Given the description of an element on the screen output the (x, y) to click on. 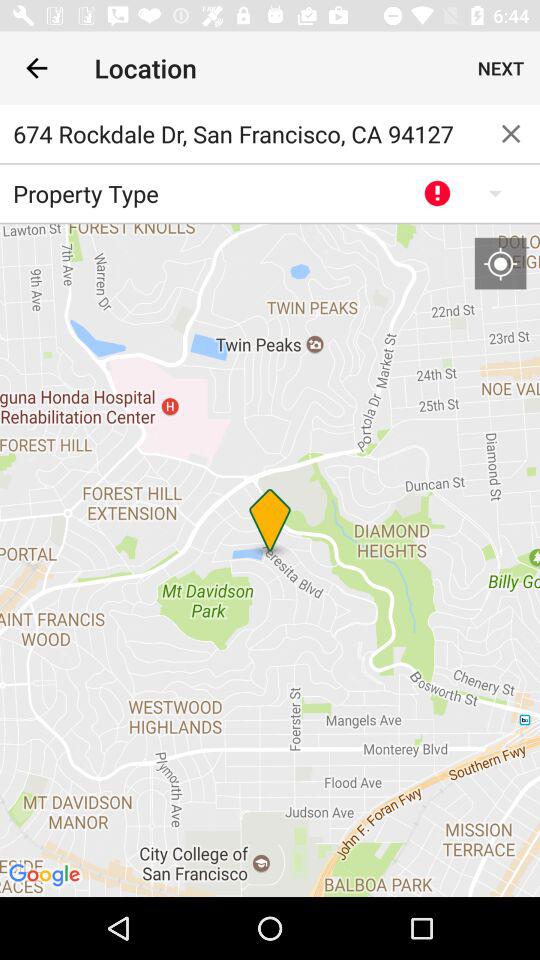
swipe until next icon (500, 67)
